Given the description of an element on the screen output the (x, y) to click on. 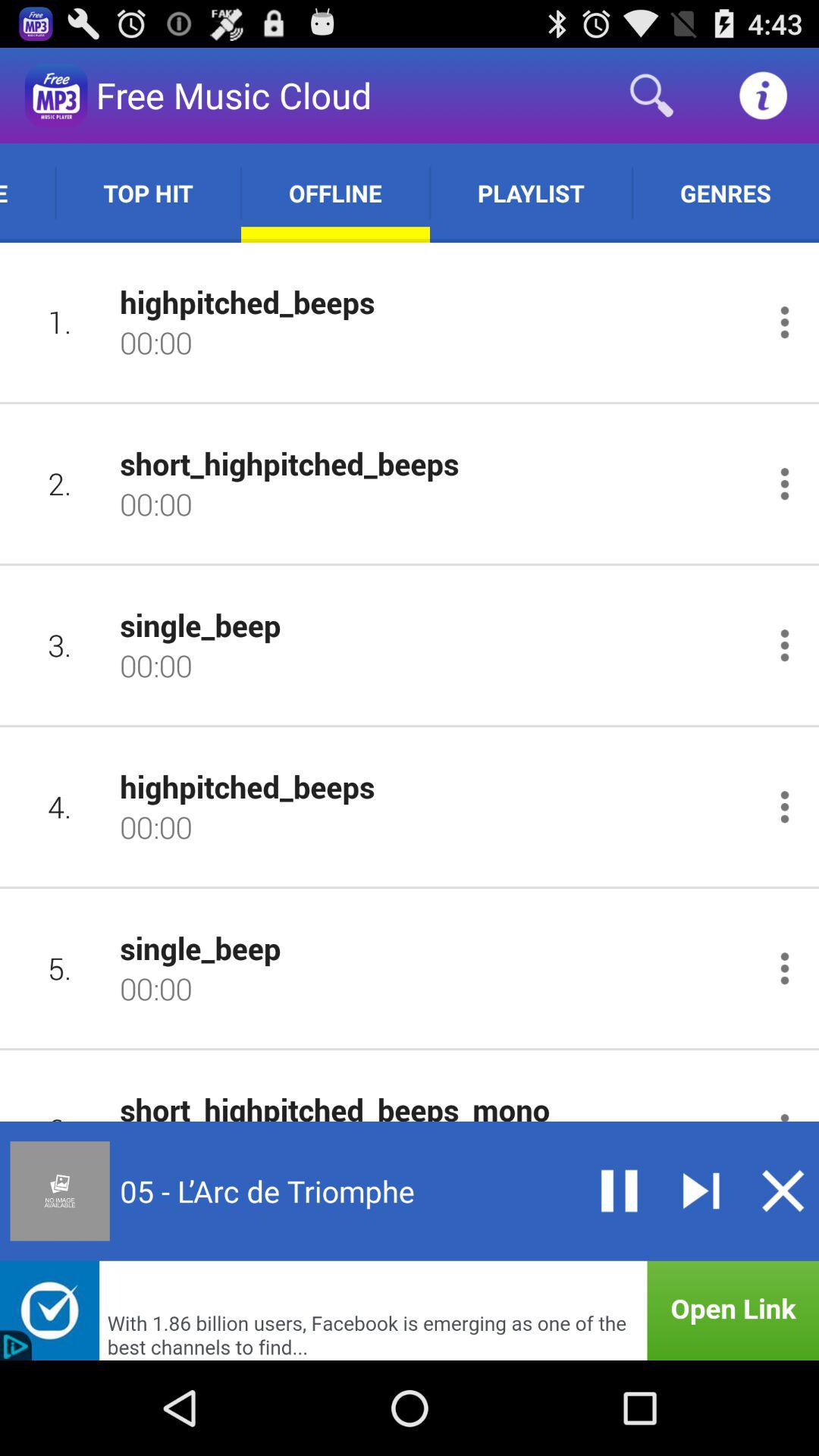
advertisement link (409, 1310)
